Given the description of an element on the screen output the (x, y) to click on. 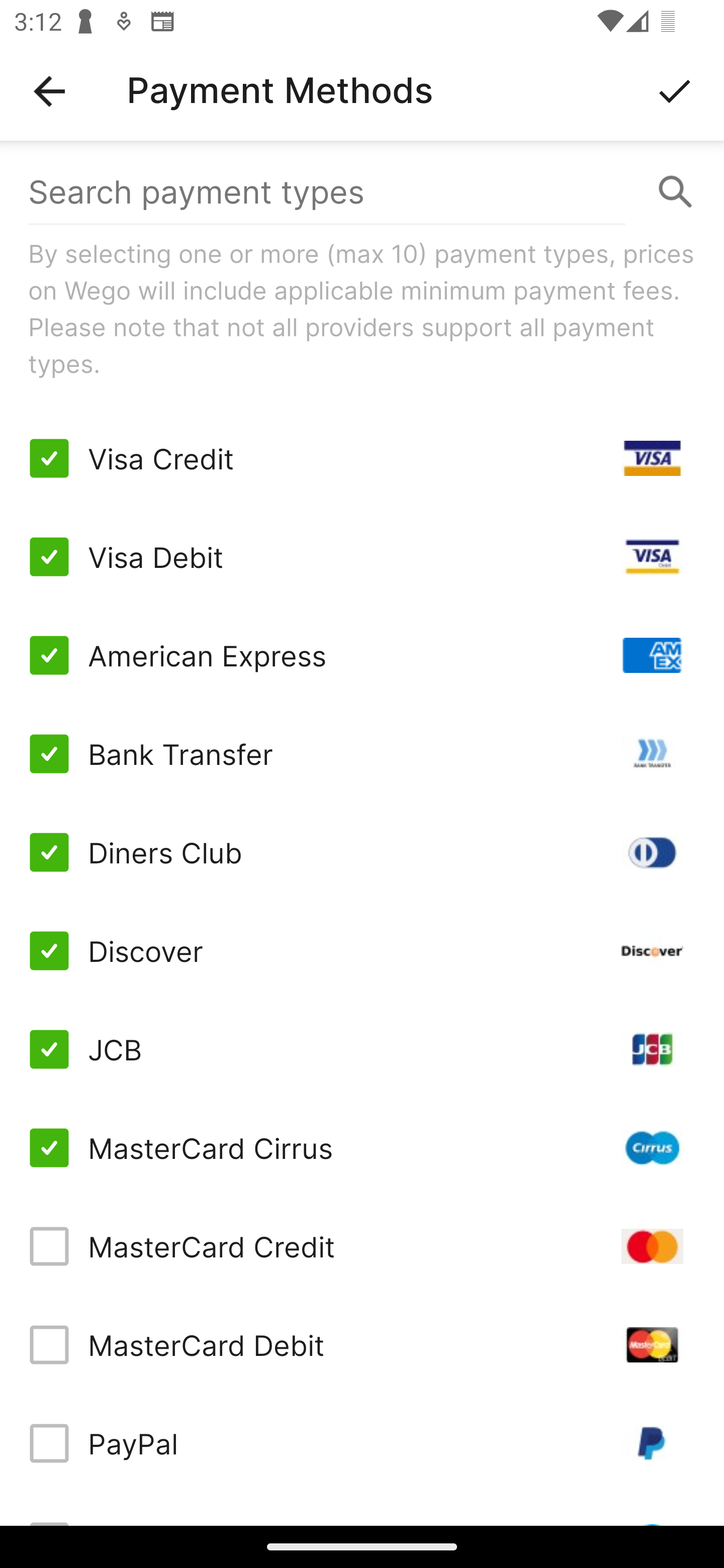
Search payment types  (361, 191)
Visa Credit (362, 458)
Visa Debit (362, 557)
American Express (362, 655)
Bank Transfer (362, 753)
Diners Club (362, 851)
Discover (362, 950)
JCB (362, 1049)
MasterCard Cirrus (362, 1147)
MasterCard Credit (362, 1245)
MasterCard Debit (362, 1344)
PayPal (362, 1442)
